Given the description of an element on the screen output the (x, y) to click on. 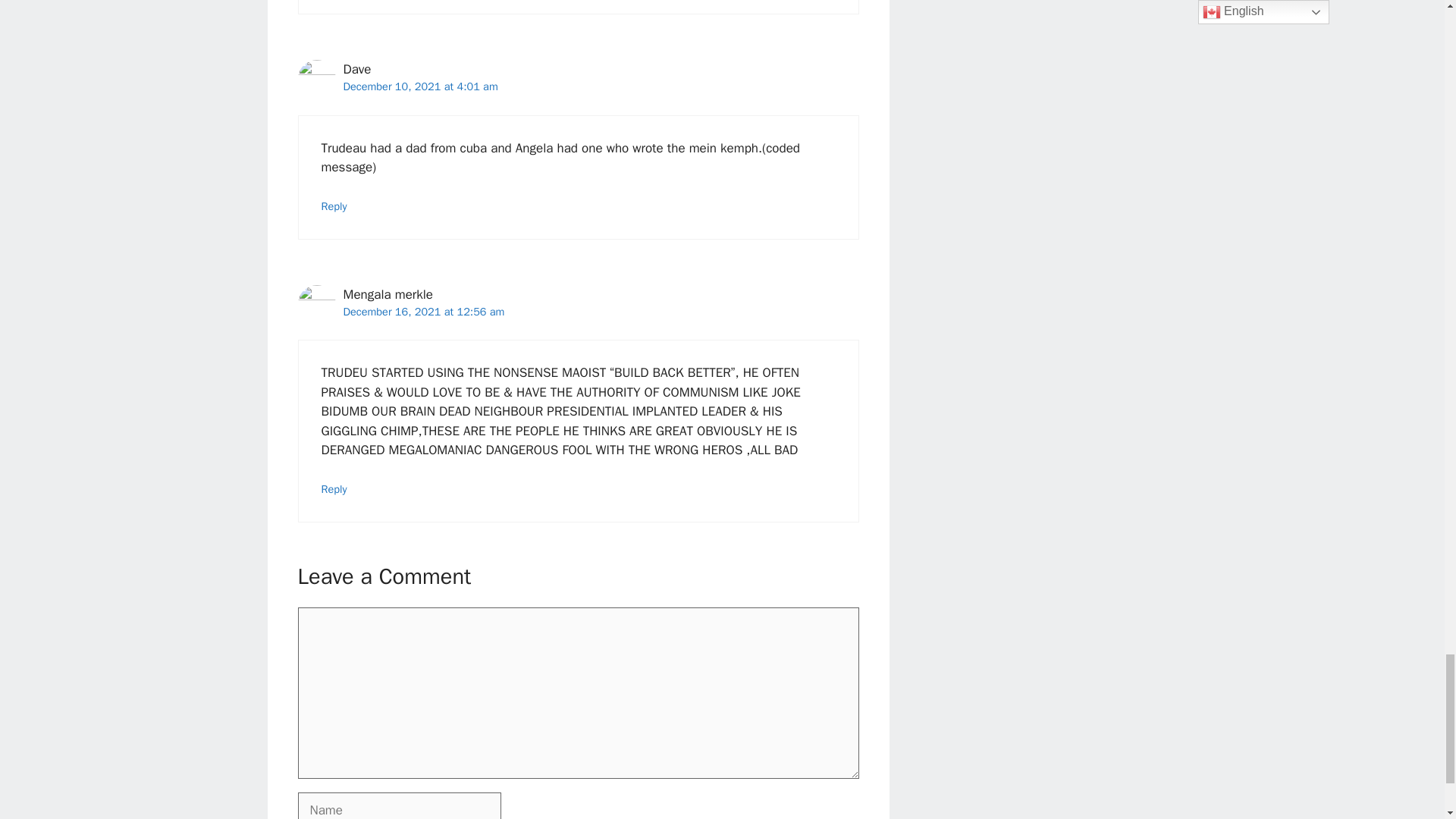
December 16, 2021 at 12:56 am (422, 311)
Reply (334, 489)
Reply (334, 205)
December 10, 2021 at 4:01 am (419, 86)
